Given the description of an element on the screen output the (x, y) to click on. 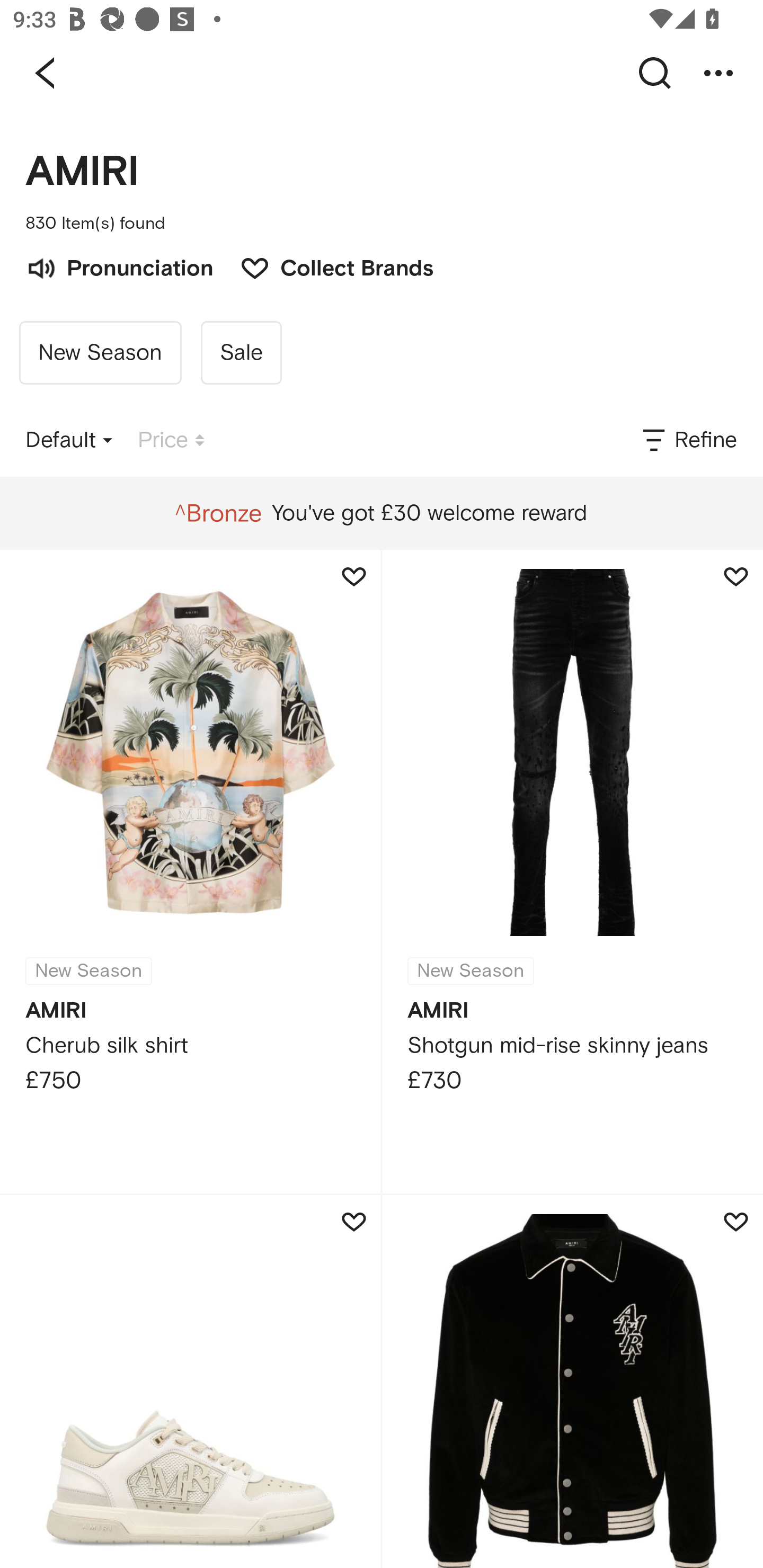
Pronunciation (119, 266)
Collect Brands (327, 266)
New Season (100, 352)
Sale (240, 352)
Default (68, 440)
Price (171, 440)
Refine (688, 440)
You've got £30 welcome reward (381, 513)
New Season AMIRI Cherub silk shirt £750 (190, 871)
